Given the description of an element on the screen output the (x, y) to click on. 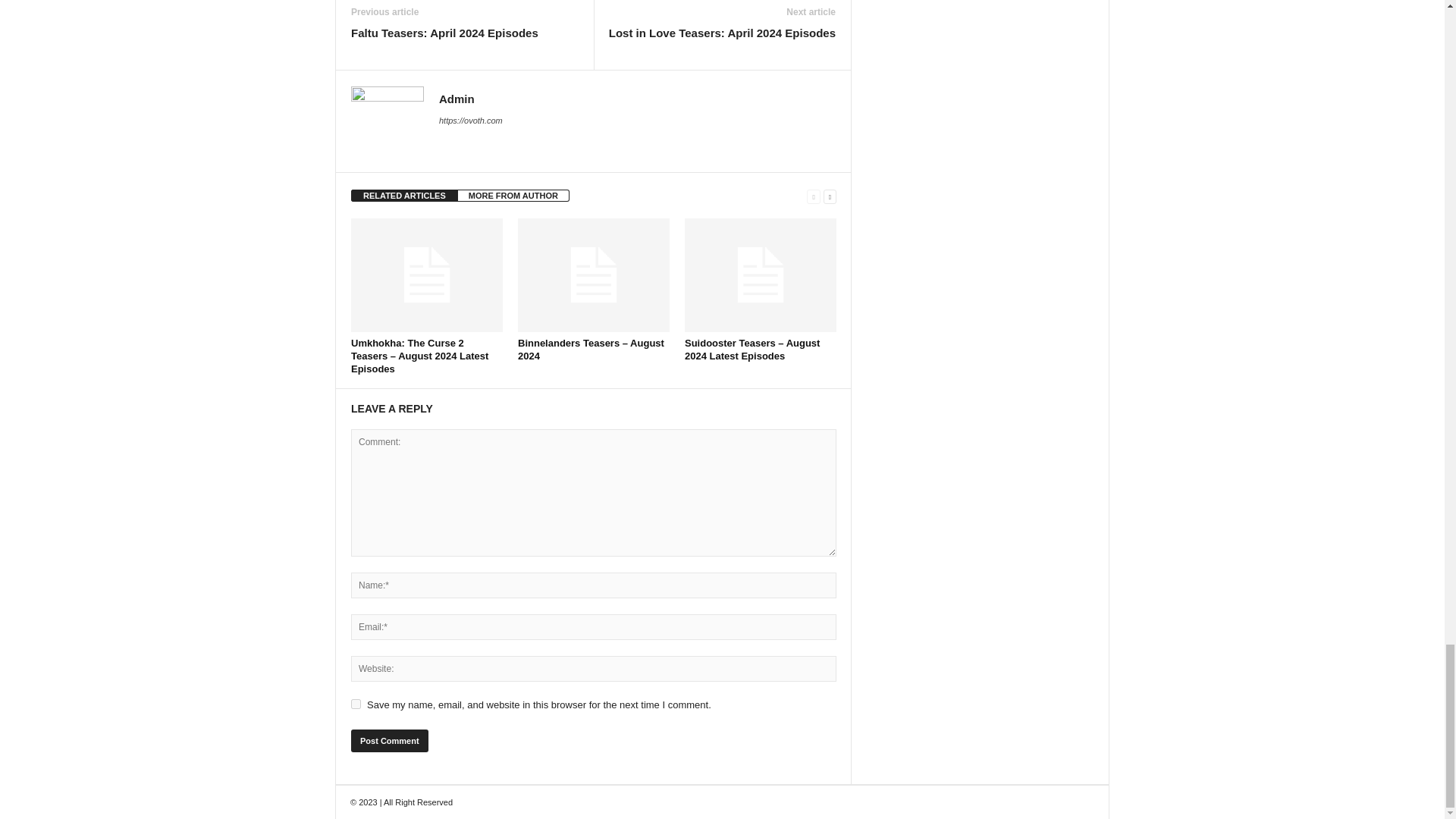
Faltu Teasers: April 2024 Episodes (444, 32)
Admin (456, 98)
Post Comment (389, 740)
yes (355, 704)
RELATED ARTICLES (404, 195)
MORE FROM AUTHOR (513, 195)
Lost in Love Teasers: April 2024 Episodes (721, 32)
Post Comment (389, 740)
